Given the description of an element on the screen output the (x, y) to click on. 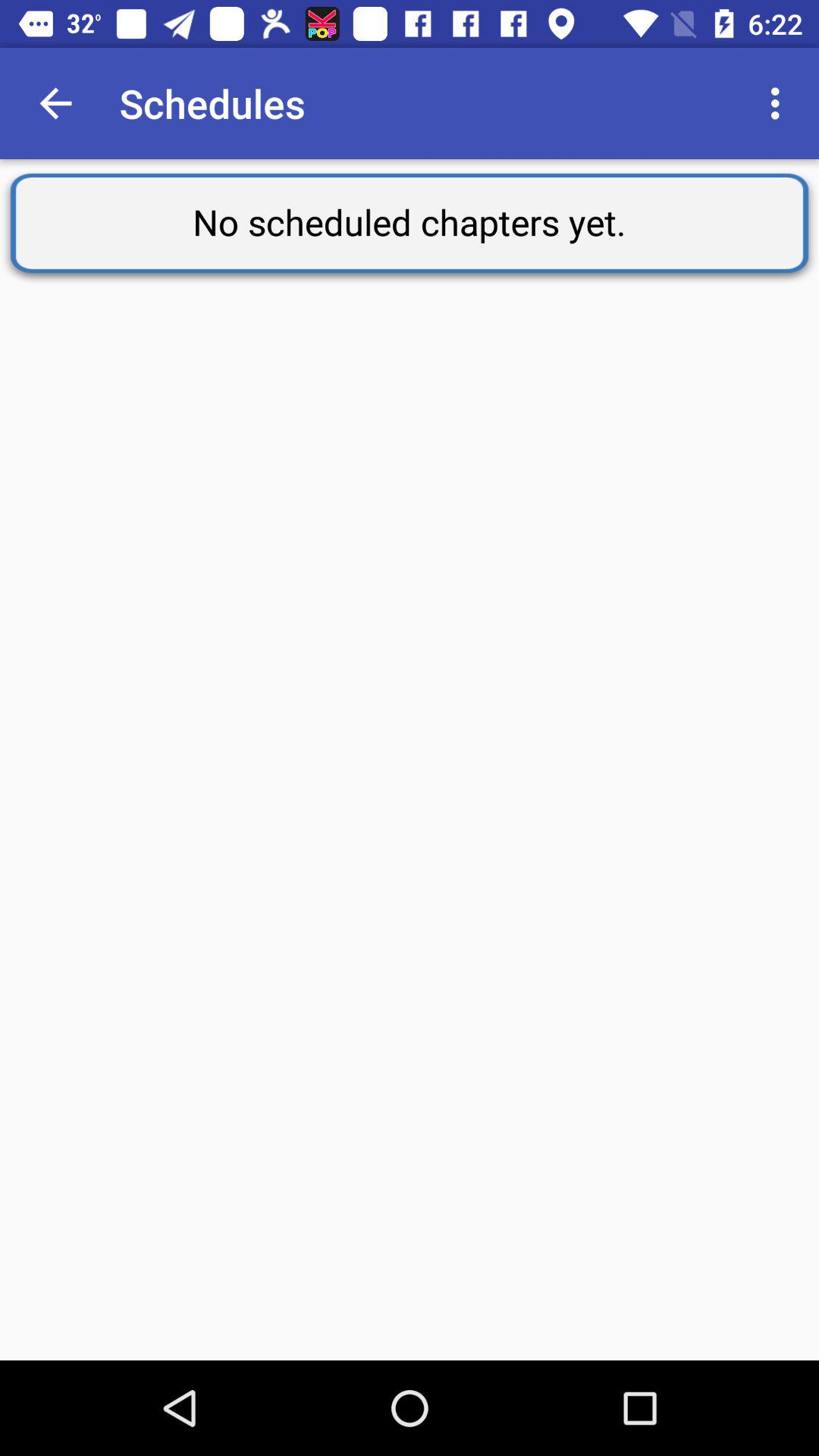
open the app to the left of schedules (55, 103)
